Given the description of an element on the screen output the (x, y) to click on. 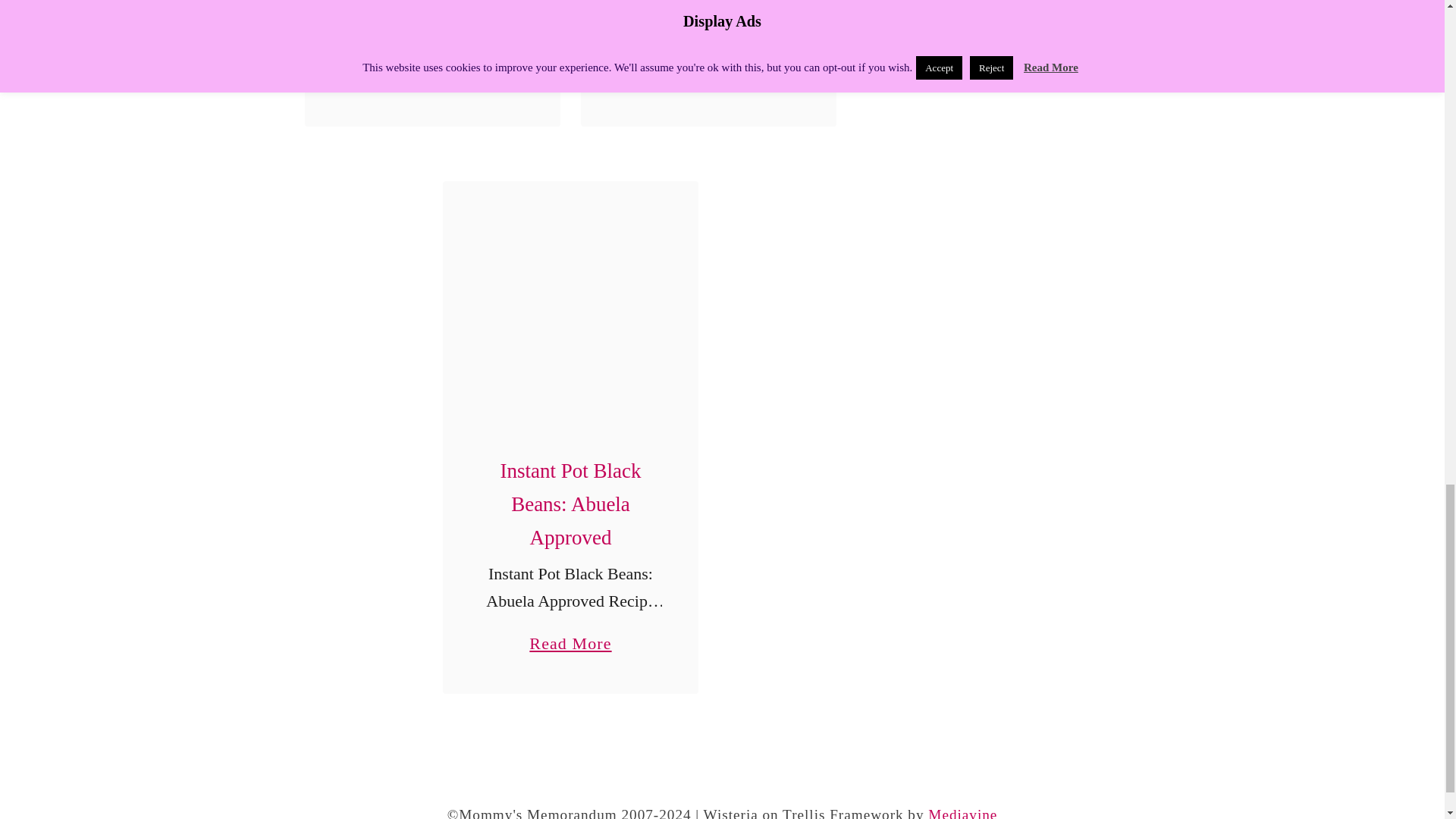
Instant Pot Black Beans: Abuela Approved (432, 68)
Instant Pot Black Beans: Abuela Approved (570, 308)
